Given the description of an element on the screen output the (x, y) to click on. 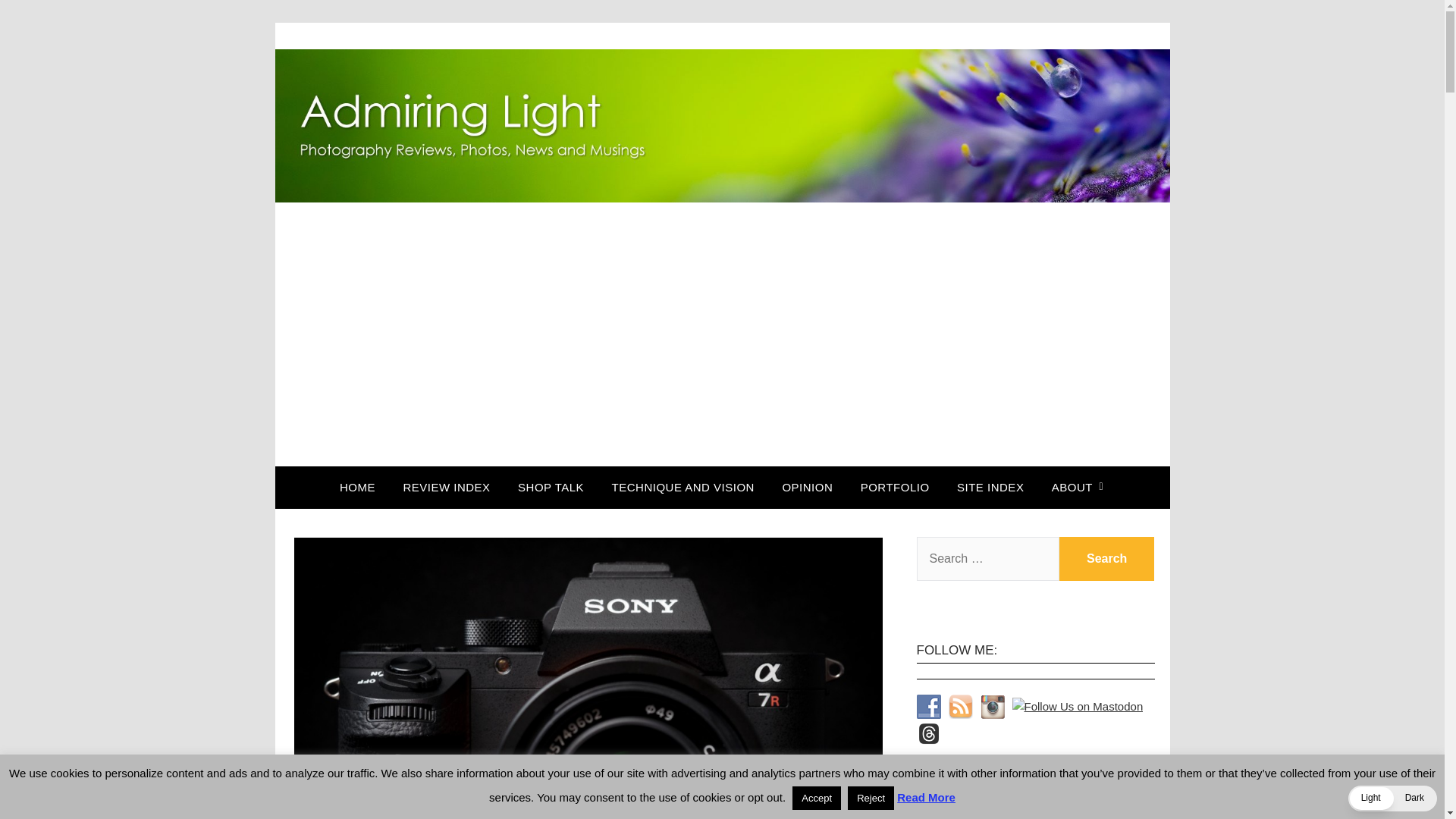
Follow Us on Instagram (991, 706)
Follow Us on RSS (959, 706)
REVIEW INDEX (446, 486)
TECHNIQUE AND VISION (683, 486)
OPINION (807, 486)
PORTFOLIO (895, 486)
Follow Us on Mastodon (1076, 706)
SITE INDEX (989, 486)
SHOP TALK (550, 486)
Follow Us on Facebook (927, 706)
